Given the description of an element on the screen output the (x, y) to click on. 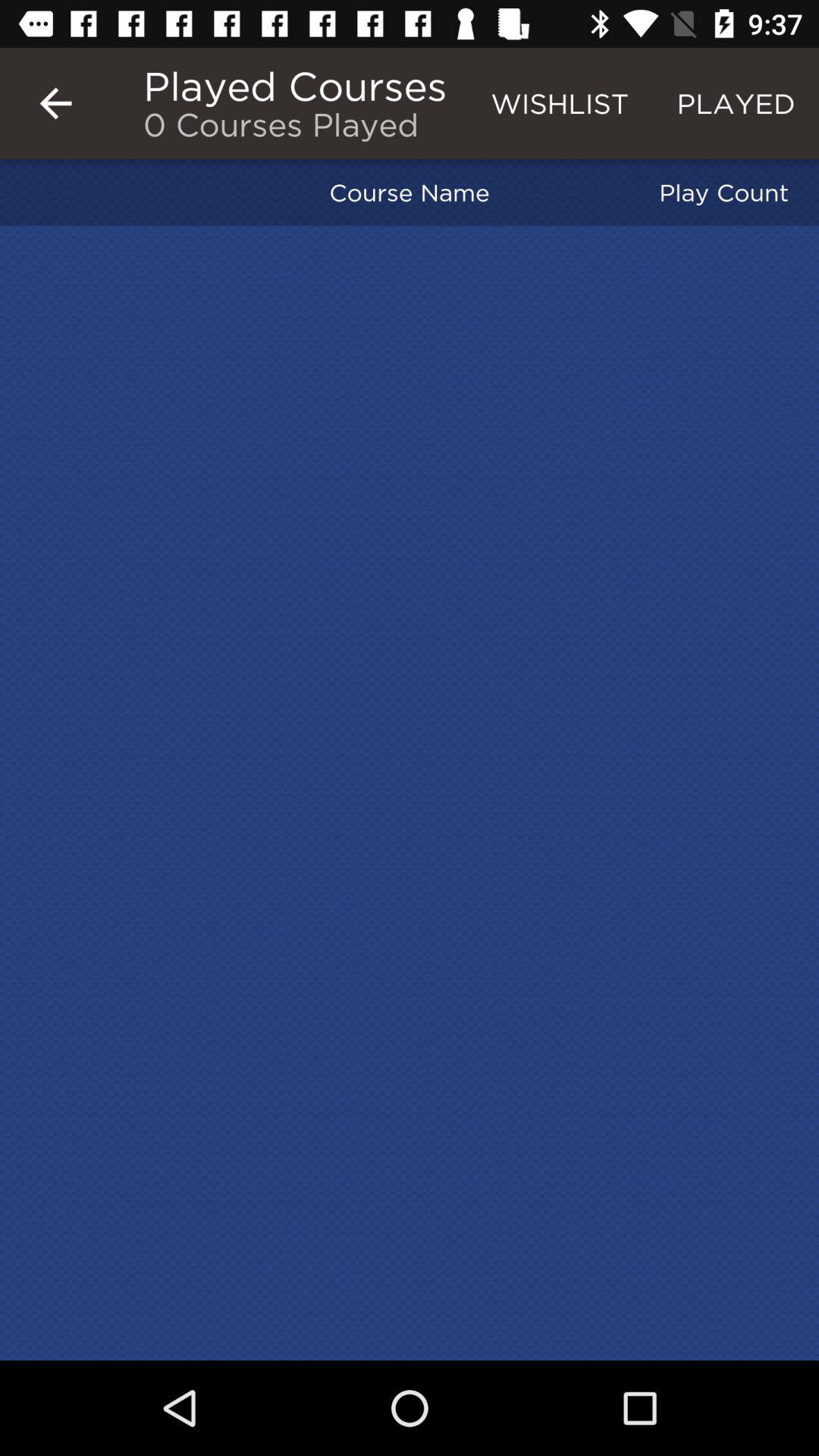
open the wishlist item (559, 103)
